Given the description of an element on the screen output the (x, y) to click on. 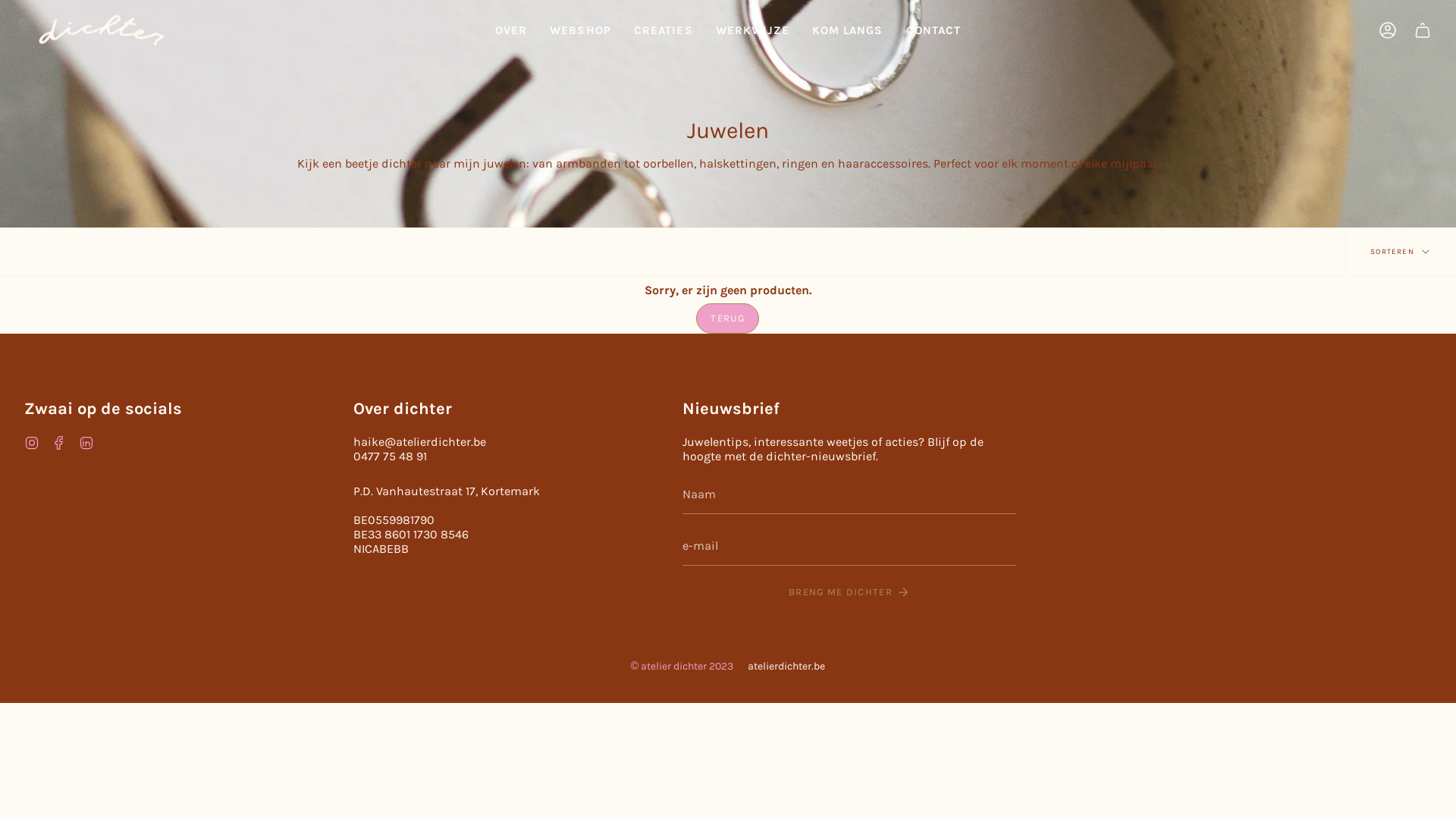
WEBSHOP Element type: text (580, 30)
CONTACT Element type: text (933, 30)
WERKWIJZE Element type: text (752, 30)
Facebook Element type: text (58, 441)
TERUG Element type: text (727, 318)
Linkedin Element type: text (86, 441)
WINKELMAND Element type: text (1422, 30)
BRENG ME DICHTER Element type: text (849, 591)
OVER Element type: text (510, 30)
CREATIES Element type: text (663, 30)
Instagram Element type: text (31, 441)
ACCOUNT Element type: text (1387, 30)
KOM LANGS Element type: text (847, 30)
